Given the description of an element on the screen output the (x, y) to click on. 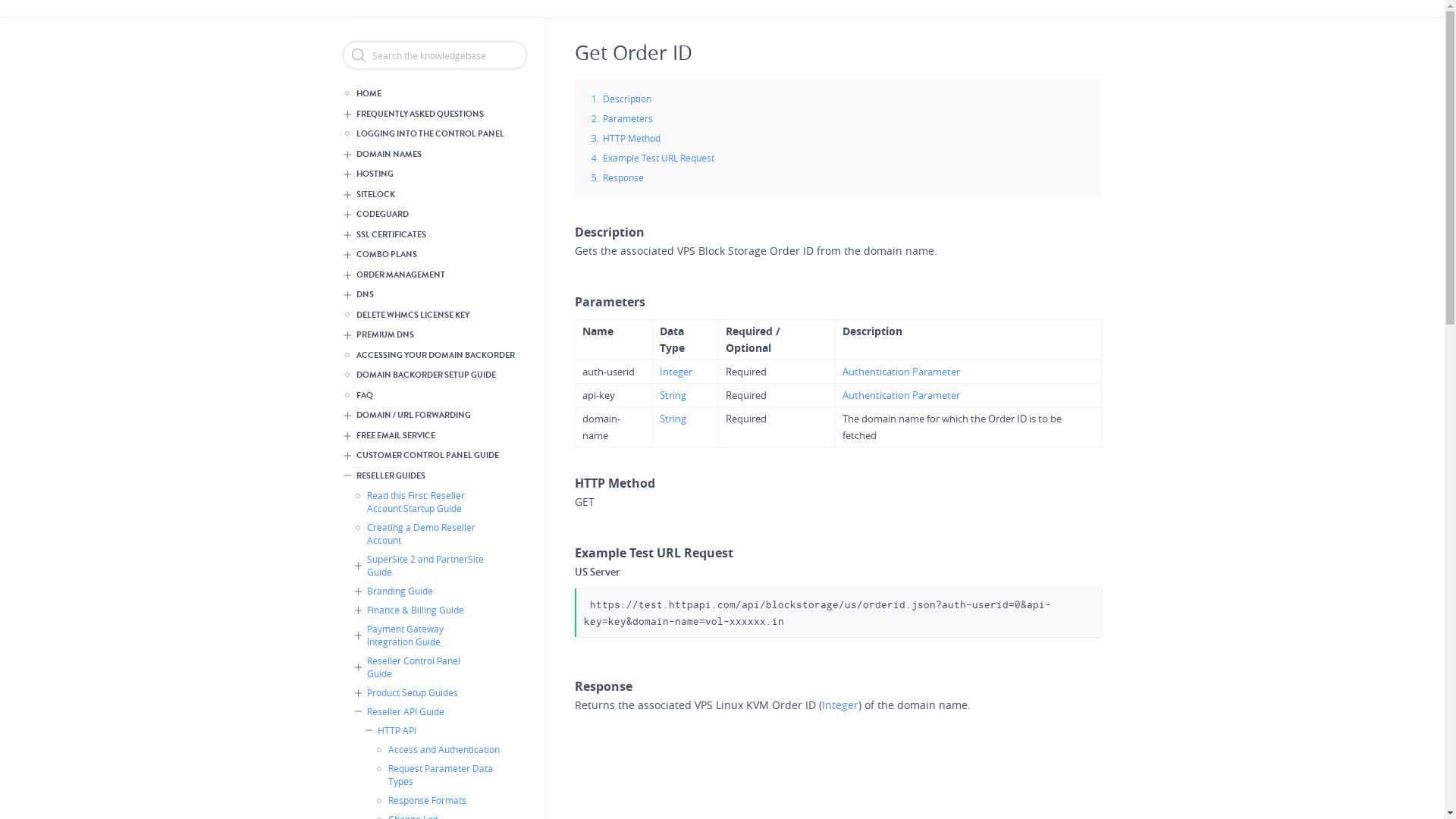
DELETE WHMCS LICENSE KEY Element type: text (428, 315)
Authentication Parameter Element type: text (901, 394)
SuperSite 2 and PartnerSite Guide Element type: text (423, 565)
Branding Guide Element type: text (423, 590)
Read this First: Reseller Account Startup Guide Element type: text (418, 501)
SSL CERTIFICATES Element type: text (433, 235)
Search Element type: text (12, 9)
DOMAIN BACKORDER SETUP GUIDE Element type: text (428, 375)
HOME Element type: text (428, 93)
Authentication Parameter Element type: text (901, 371)
FAQ Element type: text (428, 395)
String Element type: text (672, 394)
Payment Gateway Integration Guide Element type: text (423, 635)
CUSTOMER CONTROL PANEL GUIDE Element type: text (433, 455)
Response Element type: text (622, 177)
Integer Element type: text (840, 704)
COMBO PLANS Element type: text (433, 254)
Enter the terms you wish to search for. Element type: hover (433, 55)
FREE EMAIL SERVICE Element type: text (433, 435)
PREMIUM DNS Element type: text (433, 335)
String Element type: text (672, 418)
DOMAIN / URL FORWARDING Element type: text (433, 415)
SITELOCK Element type: text (433, 194)
DNS Element type: text (433, 294)
Reseller Control Panel Guide Element type: text (423, 667)
ORDER MANAGEMENT Element type: text (433, 274)
Access and Authentication Element type: text (439, 749)
Example Test URL Request Element type: text (657, 157)
Parameters Element type: text (627, 118)
Request Parameter Data Types Element type: text (439, 774)
Reseller API Guide Element type: text (423, 711)
HTTP API Element type: text (433, 730)
HTTP Method Element type: text (630, 137)
HOSTING Element type: text (433, 174)
Skip to main content Element type: text (722, 1)
Integer Element type: text (675, 371)
FREQUENTLY ASKED QUESTIONS Element type: text (433, 113)
Product Setup Guides Element type: text (423, 692)
CODEGUARD Element type: text (433, 214)
ACCESSING YOUR DOMAIN BACKORDER Element type: text (428, 354)
RESELLER GUIDES Element type: text (433, 476)
Finance & Billing Guide Element type: text (423, 609)
Creating a Demo Reseller Account Element type: text (418, 533)
DOMAIN NAMES Element type: text (433, 154)
LOGGING INTO THE CONTROL PANEL Element type: text (428, 134)
Response Formats Element type: text (439, 799)
Description Element type: text (626, 98)
